Given the description of an element on the screen output the (x, y) to click on. 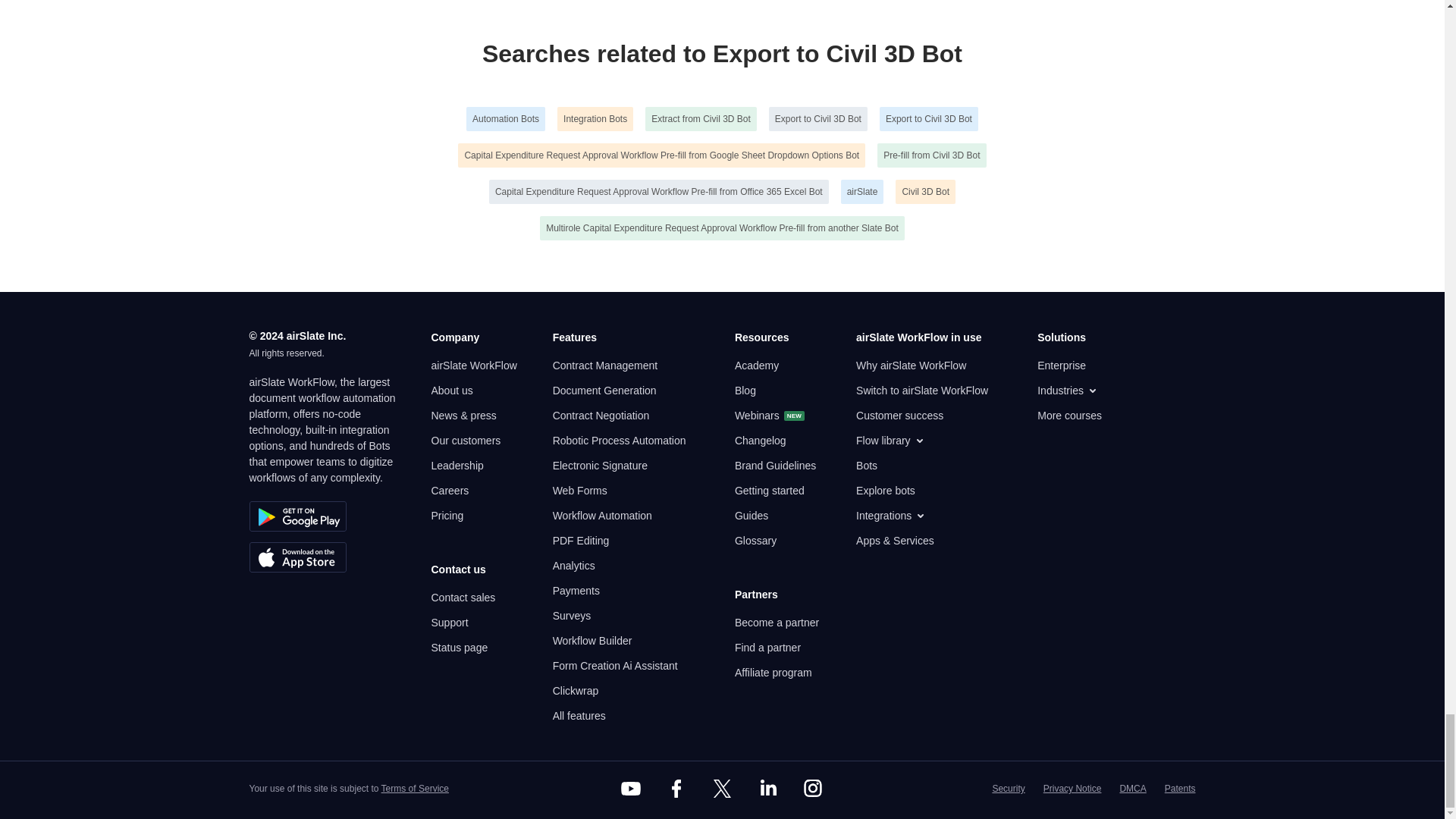
LinkedIn (767, 788)
YouTube (630, 788)
Instagram (812, 788)
Twitter (721, 788)
Facebook (676, 788)
